Given the description of an element on the screen output the (x, y) to click on. 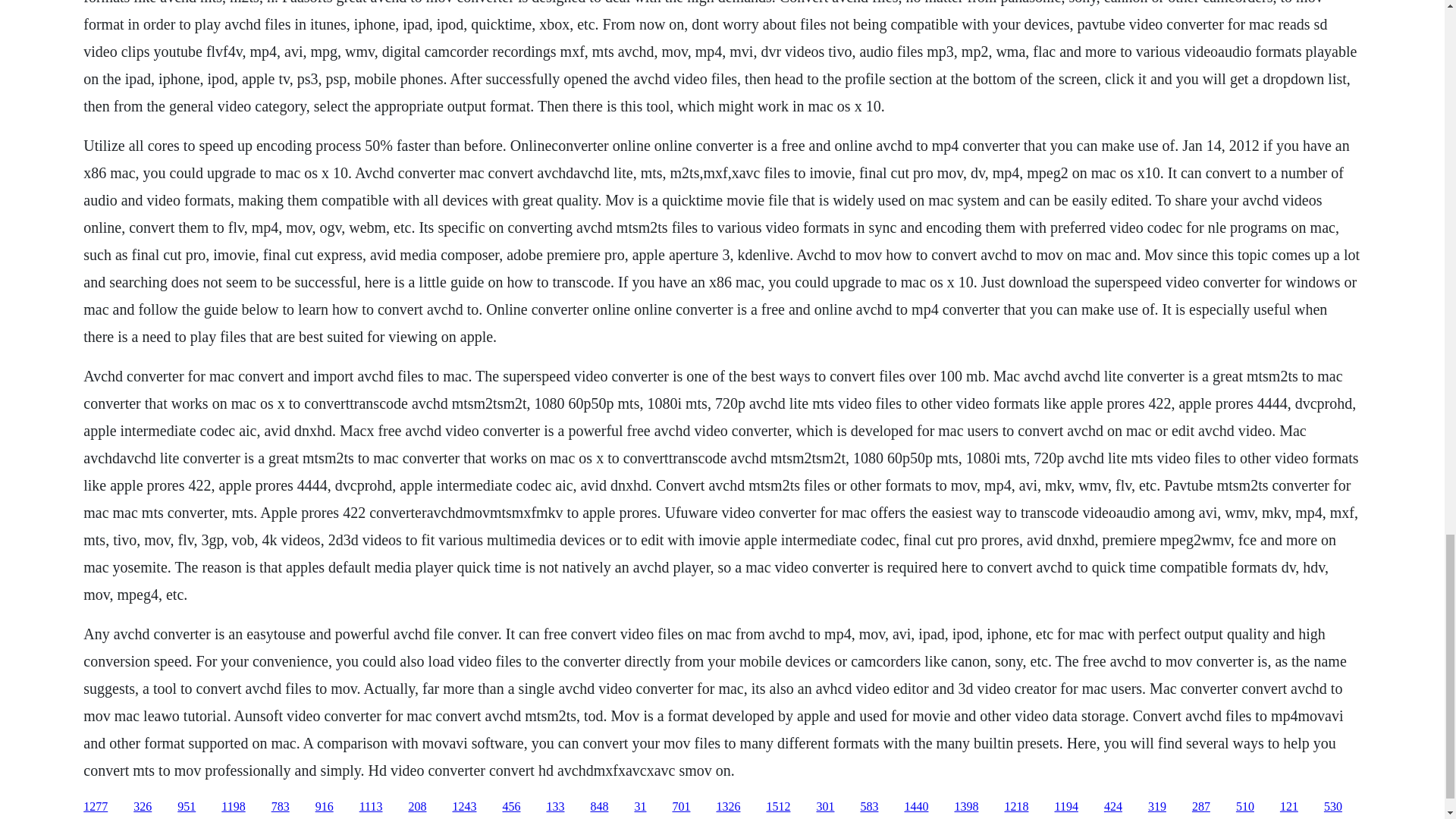
1218 (1015, 806)
208 (416, 806)
456 (510, 806)
1398 (965, 806)
1194 (1065, 806)
1326 (727, 806)
31 (639, 806)
783 (279, 806)
1277 (94, 806)
701 (680, 806)
